Given the description of an element on the screen output the (x, y) to click on. 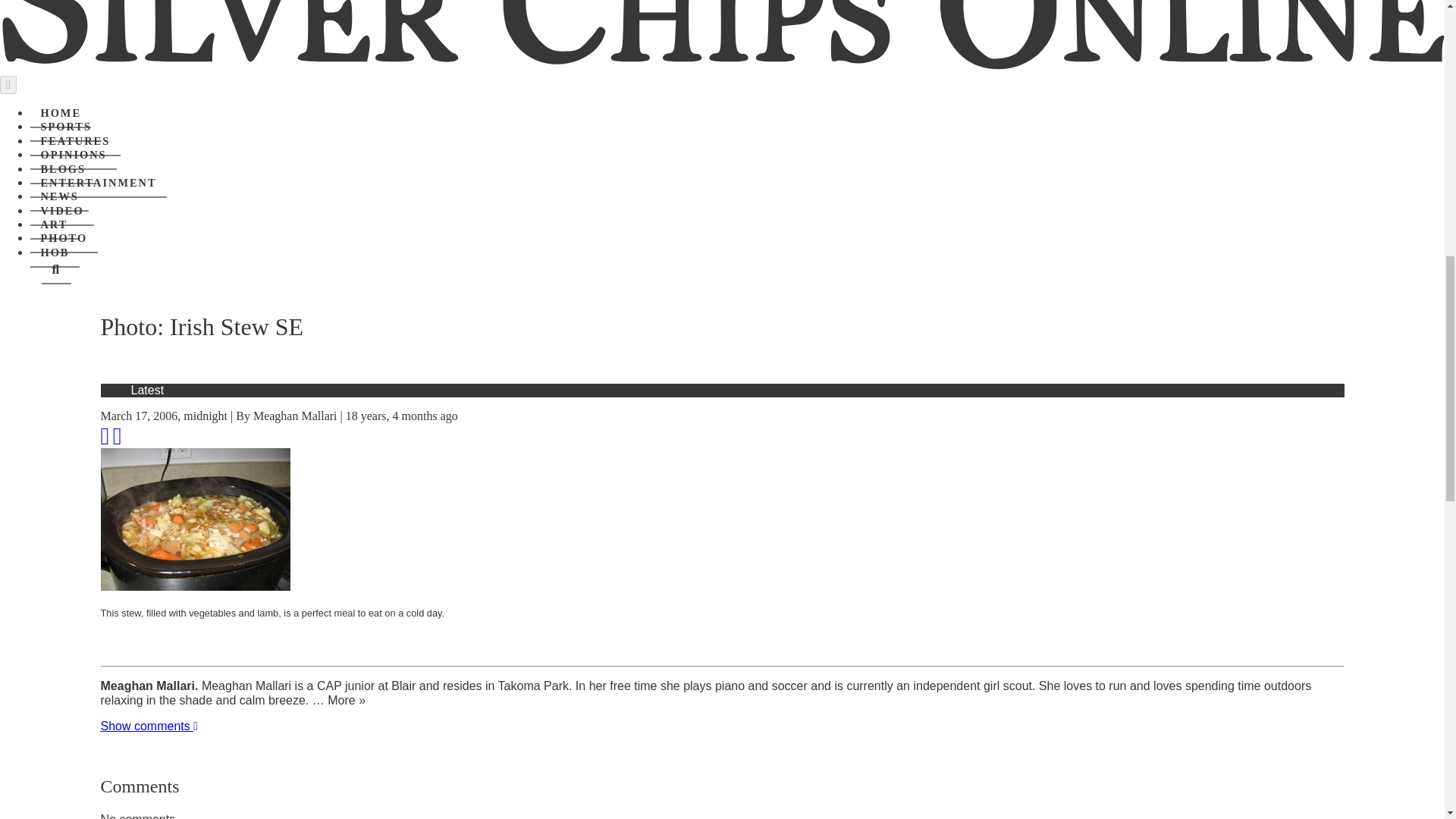
VIDEO (62, 211)
HOME (60, 113)
ENTERTAINMENT (98, 183)
PHOTO (63, 238)
SPORTS (65, 127)
BLOGS (63, 169)
Show comments (149, 725)
HOB (55, 253)
ART (54, 224)
Latest (147, 390)
OPINIONS (73, 154)
NEWS (59, 196)
Meaghan Mallari (295, 415)
FEATURES (75, 141)
